Given the description of an element on the screen output the (x, y) to click on. 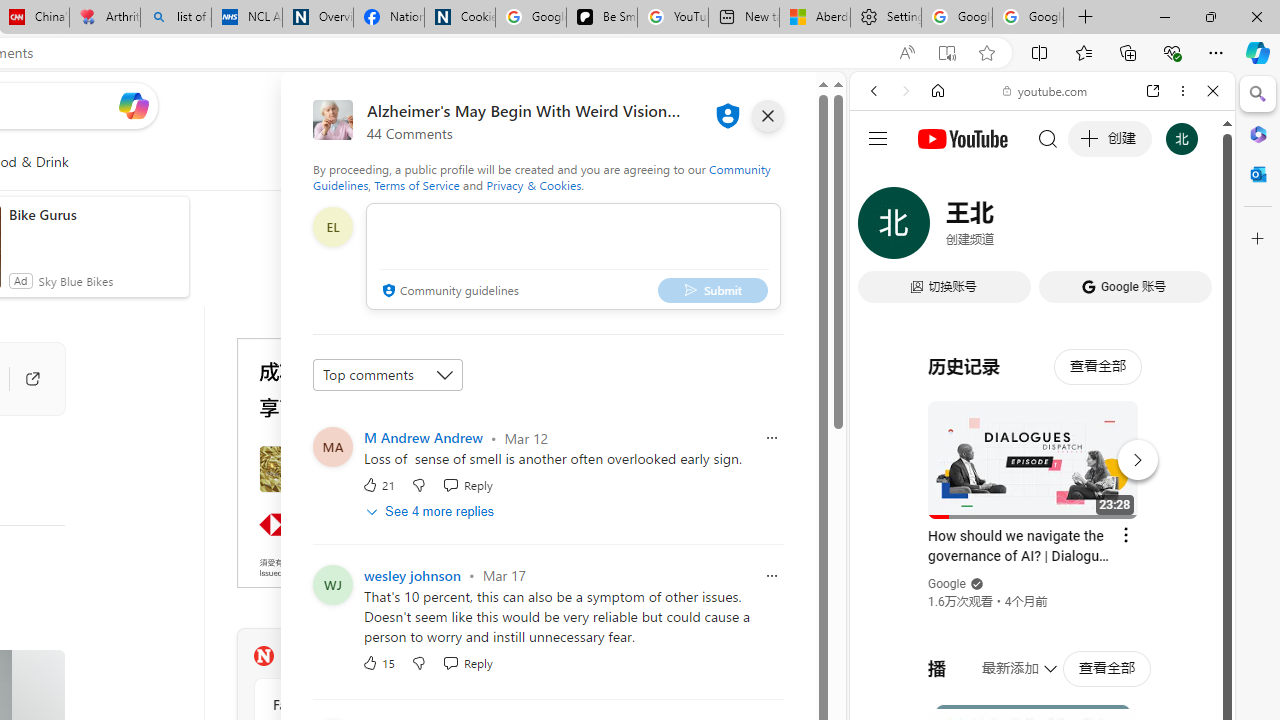
close (767, 115)
AutomationID: canvas (386, 462)
Cookies (460, 17)
Community Guidelines (541, 176)
Copilot (Ctrl+Shift+.) (1258, 52)
Report comment (771, 574)
Search Filter, Search Tools (1093, 228)
Class: b_serphb (1190, 229)
Personalize (488, 162)
Settings and more (Alt+F) (1215, 52)
New Tab (1085, 17)
